Given the description of an element on the screen output the (x, y) to click on. 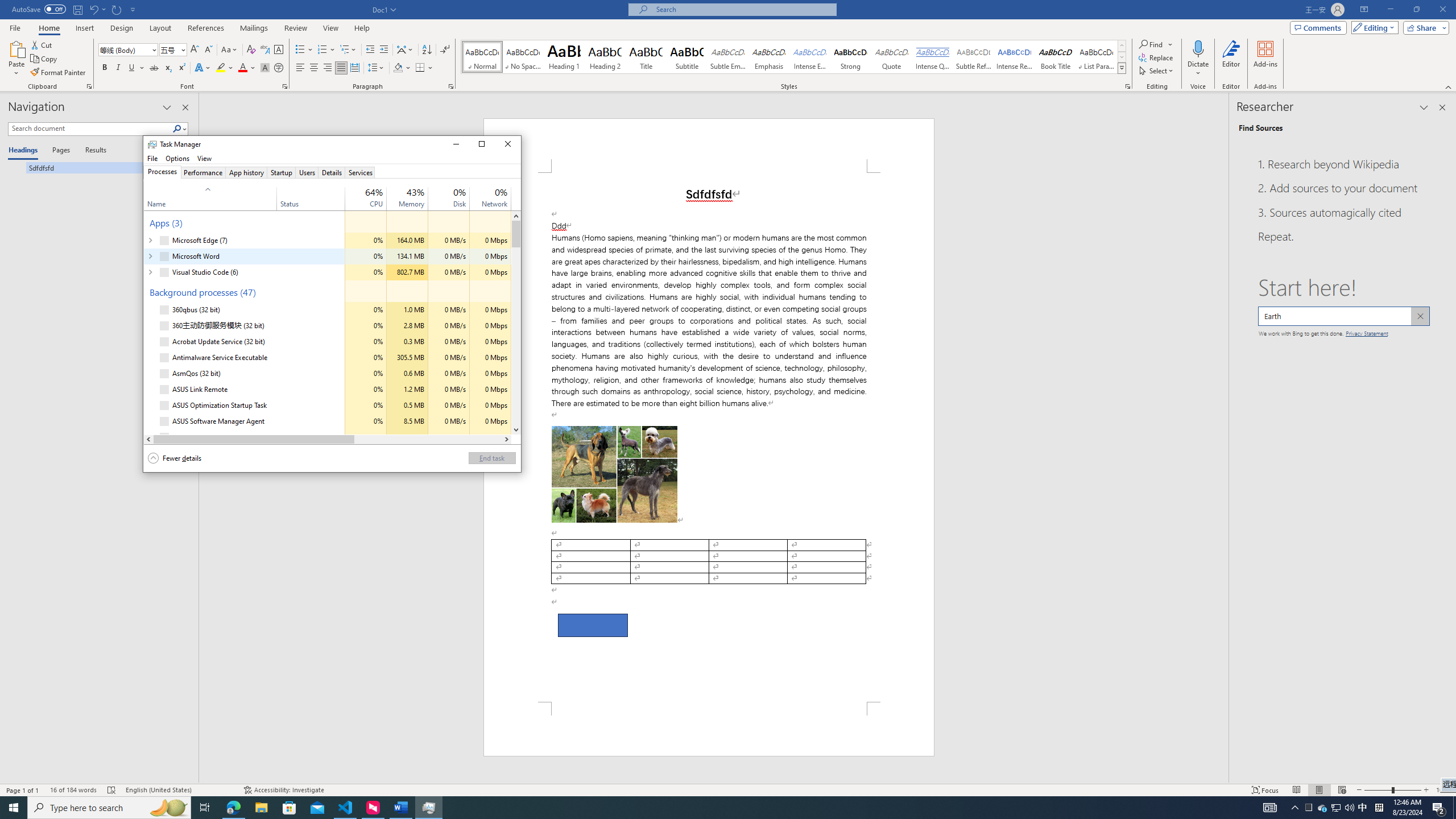
Intense Quote (932, 56)
Network (490, 437)
Microsoft Edge - 1 running window (233, 807)
Word - 1 running window (400, 807)
Task Manager - 1 running window (428, 807)
Search highlights icon opens search home window (167, 807)
